Given the description of an element on the screen output the (x, y) to click on. 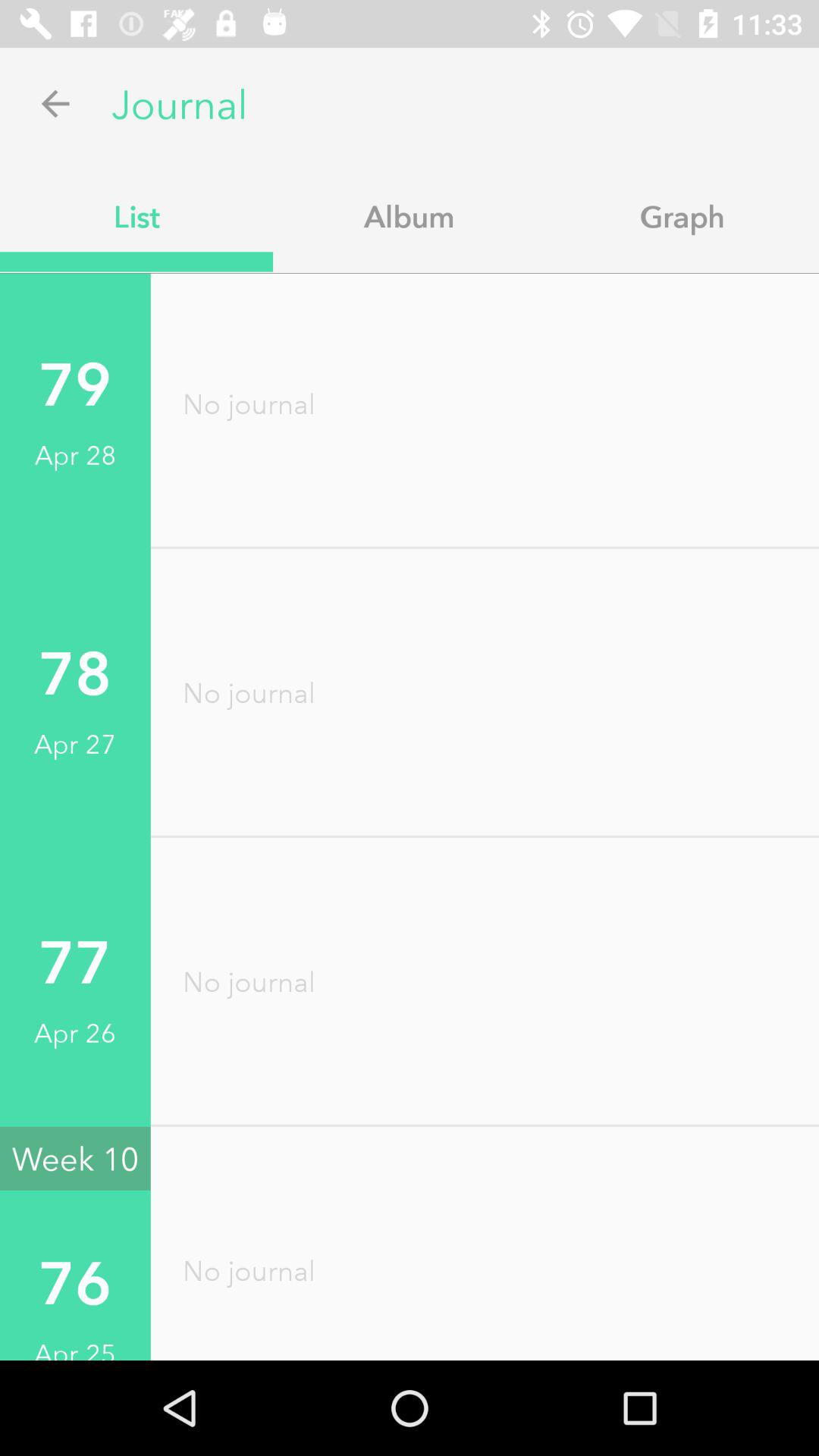
choose the list item (136, 216)
